Given the description of an element on the screen output the (x, y) to click on. 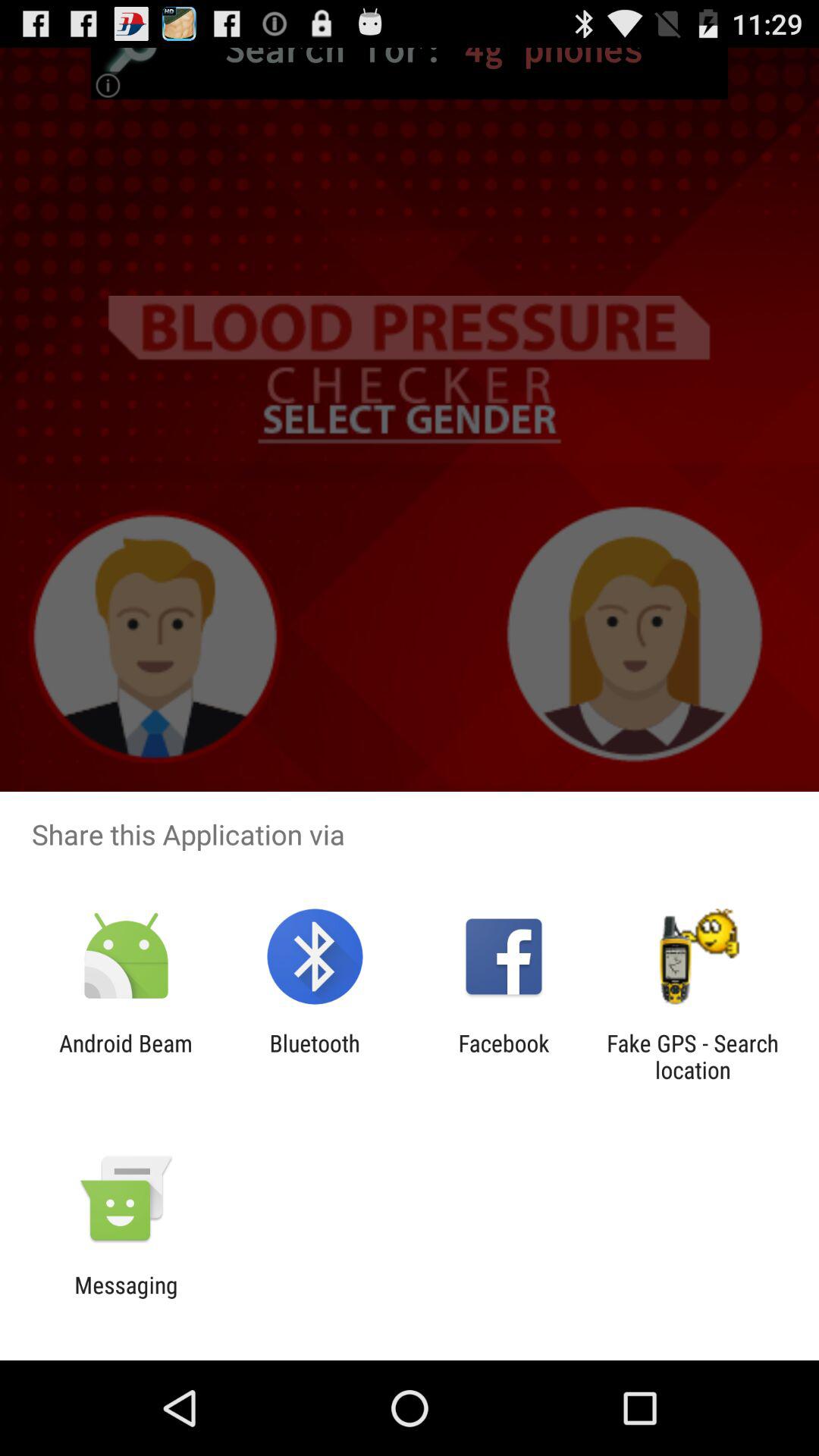
turn on item next to fake gps search icon (503, 1056)
